Given the description of an element on the screen output the (x, y) to click on. 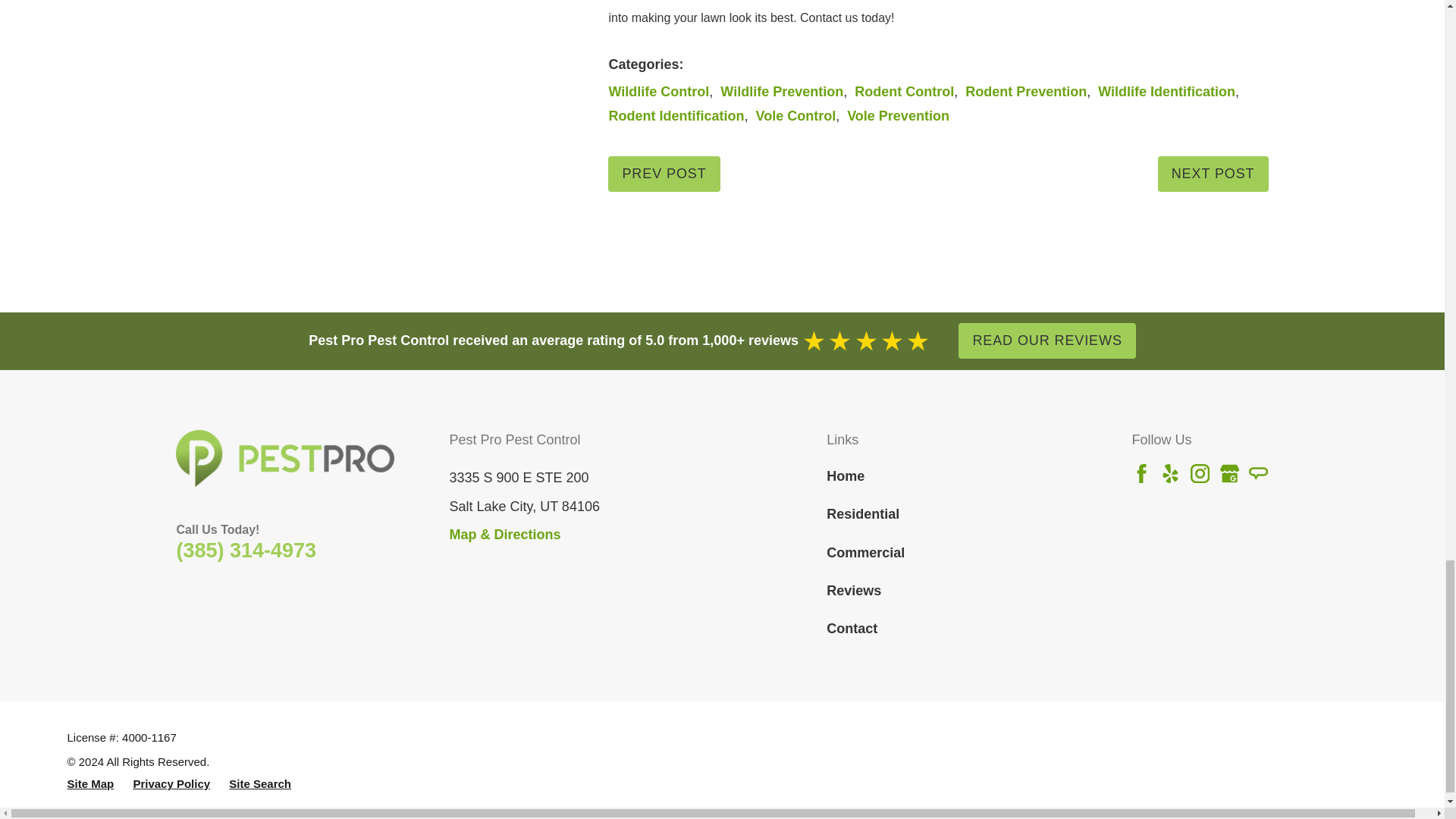
Facebook (1141, 473)
Star Rating (865, 340)
Home (285, 457)
